Given the description of an element on the screen output the (x, y) to click on. 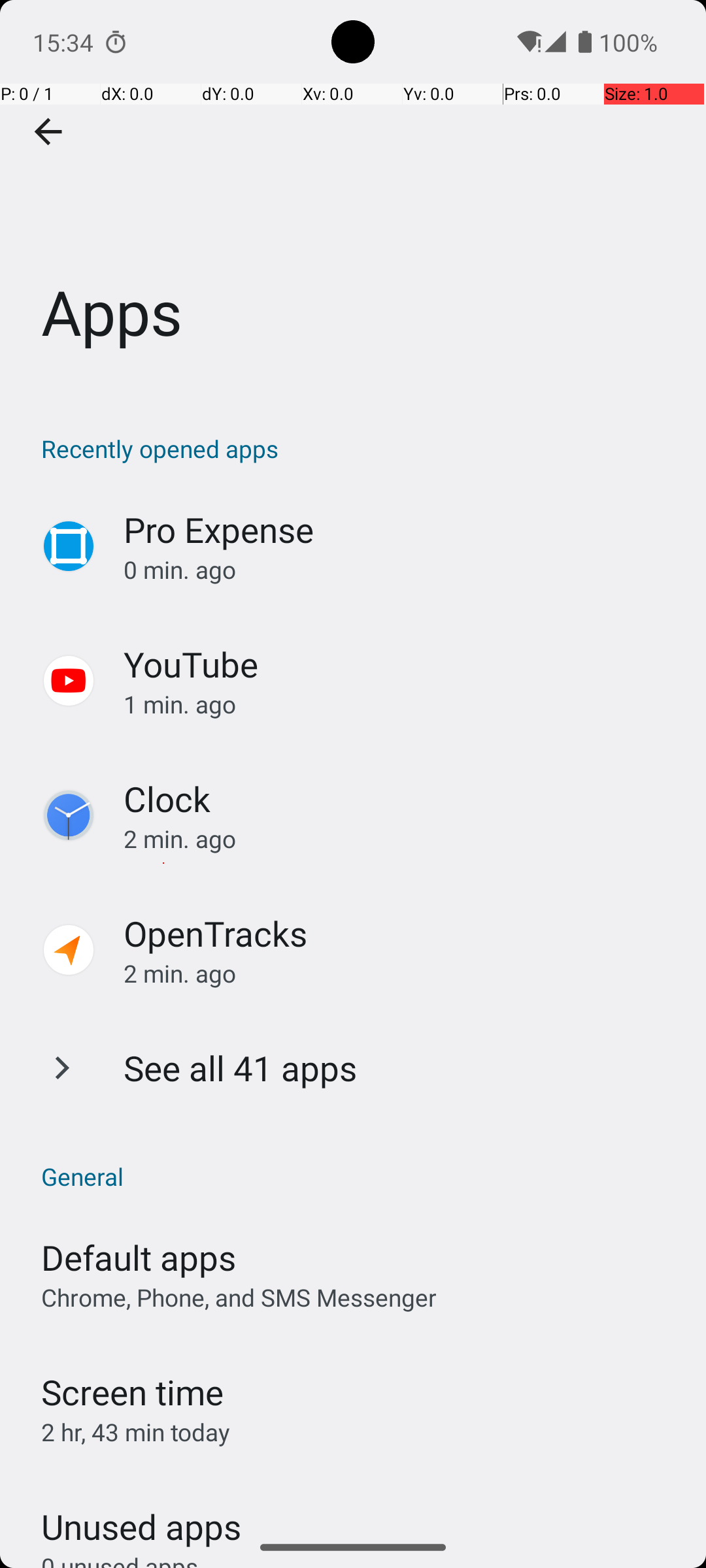
Recently opened apps Element type: android.widget.TextView (359, 448)
0 min. ago Element type: android.widget.TextView (400, 569)
1 min. ago Element type: android.widget.TextView (400, 703)
2 min. ago Element type: android.widget.TextView (400, 838)
See all 41 apps Element type: android.widget.TextView (239, 1067)
Chrome, Phone, and SMS Messenger Element type: android.widget.TextView (238, 1296)
2 hr, 43 min today Element type: android.widget.TextView (135, 1431)
Unused apps Element type: android.widget.TextView (141, 1514)
